Given the description of an element on the screen output the (x, y) to click on. 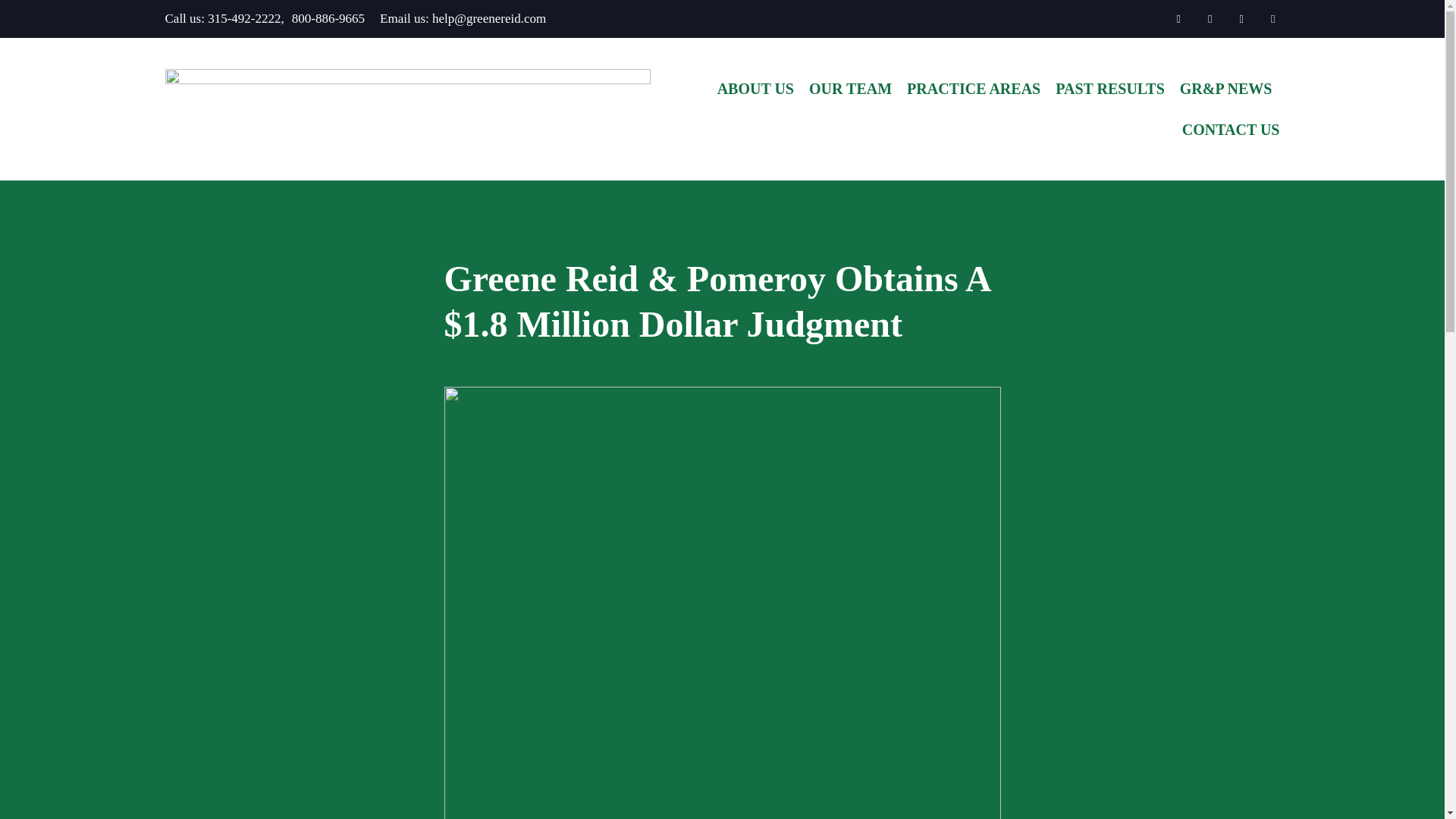
OUR TEAM (850, 87)
315-492-2222 (244, 18)
ABOUT US (756, 87)
800-886-9665 (328, 18)
